Given the description of an element on the screen output the (x, y) to click on. 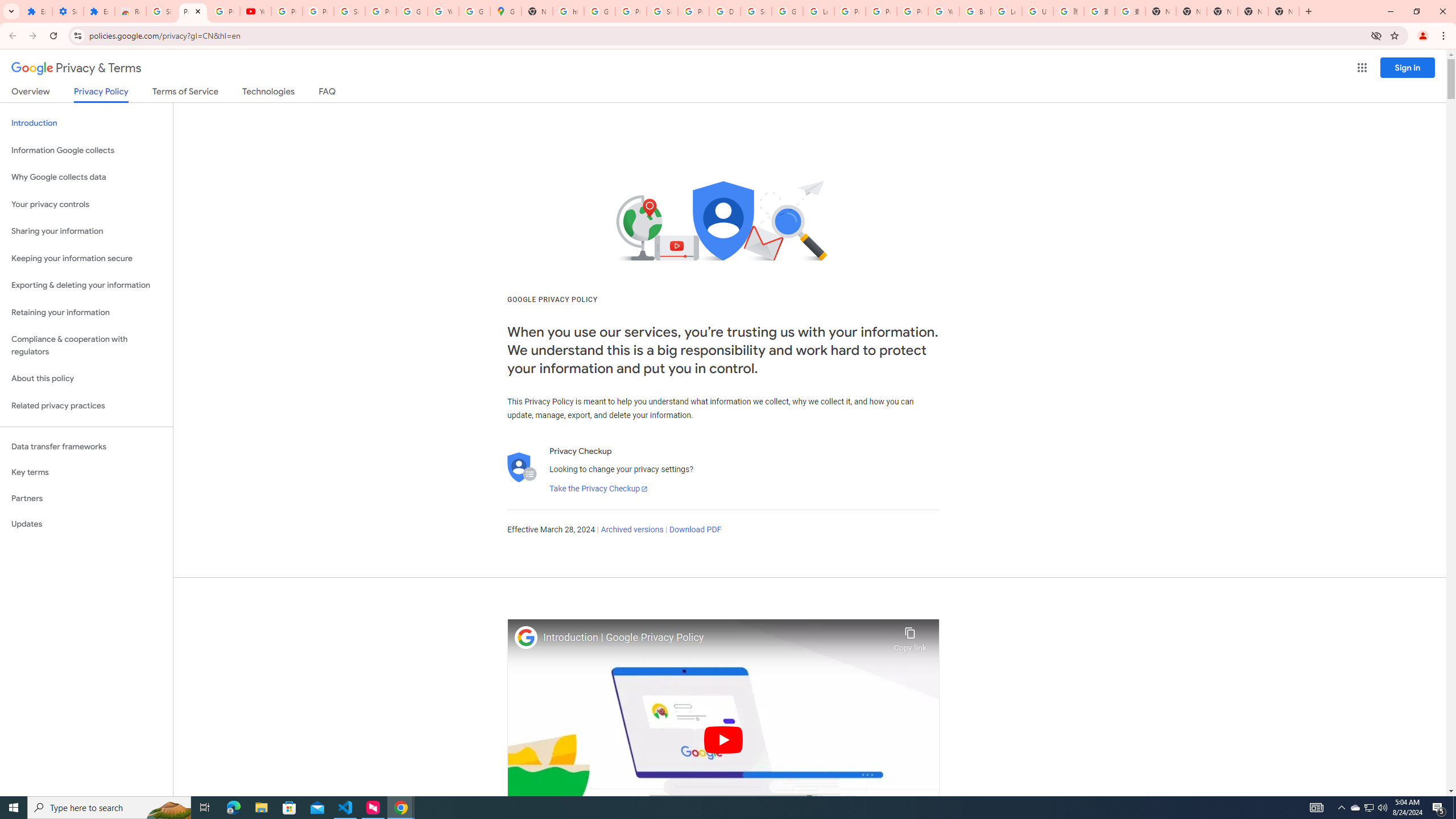
YouTube (443, 11)
Reviews: Helix Fruit Jump Arcade Game (130, 11)
YouTube (943, 11)
Why Google collects data (86, 176)
Keeping your information secure (86, 258)
Extensions (98, 11)
Introduction (86, 122)
